Given the description of an element on the screen output the (x, y) to click on. 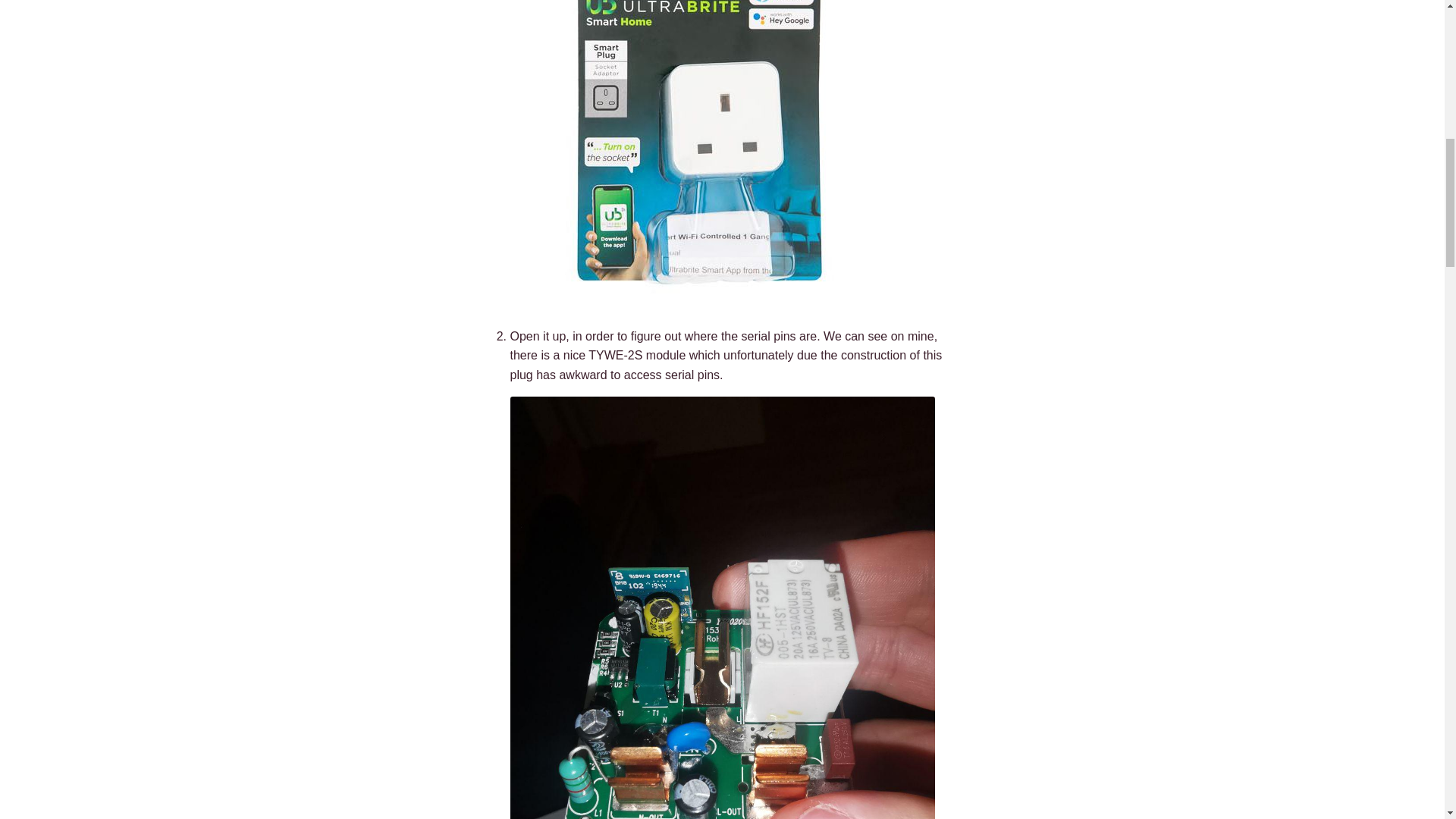
plug-package (698, 154)
